Given the description of an element on the screen output the (x, y) to click on. 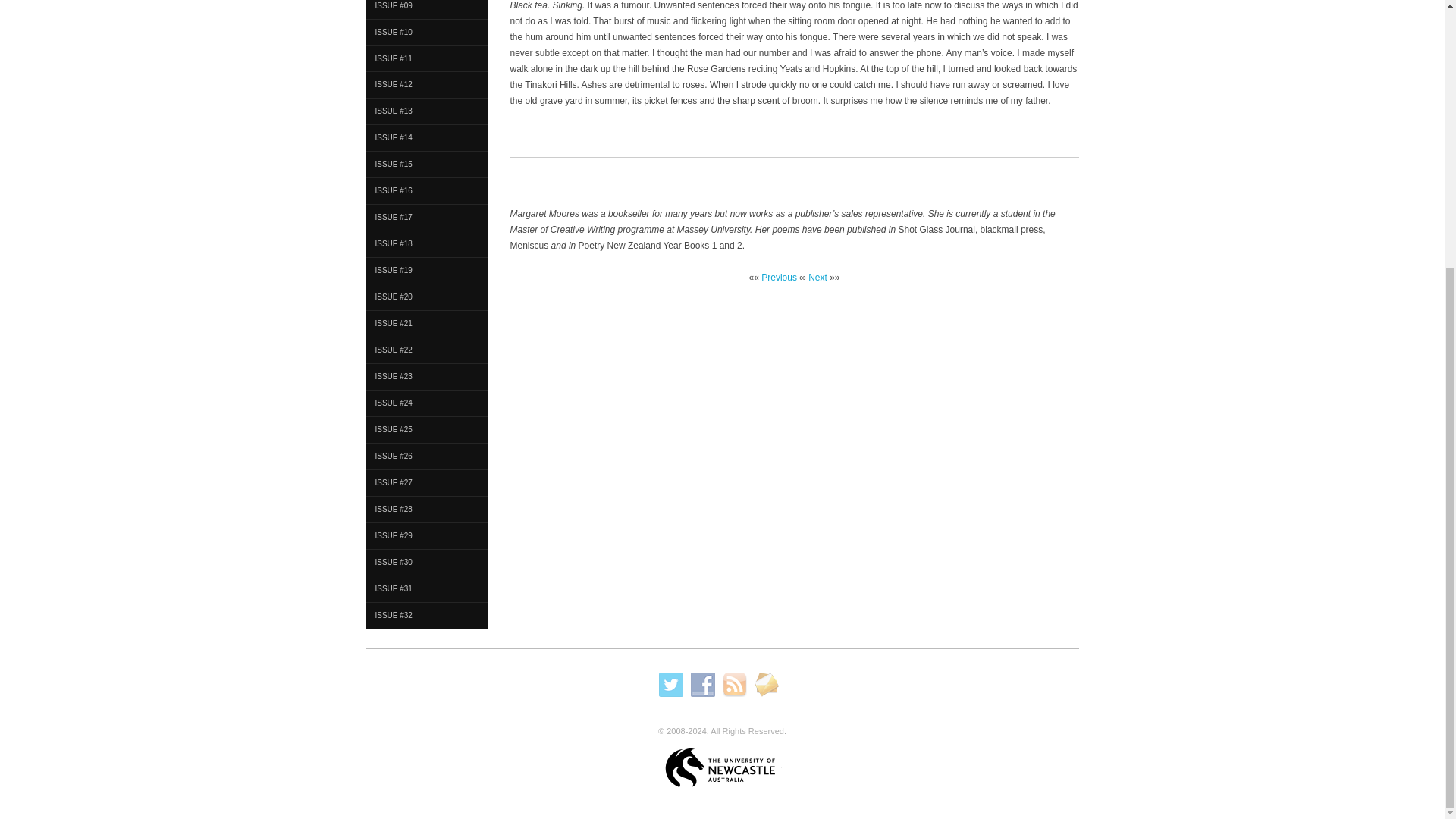
Like us on Facebook (702, 684)
Follow us on Twitter (670, 684)
E-mail Us! (765, 684)
Subscribe to our RSS feed (733, 684)
